Given the description of an element on the screen output the (x, y) to click on. 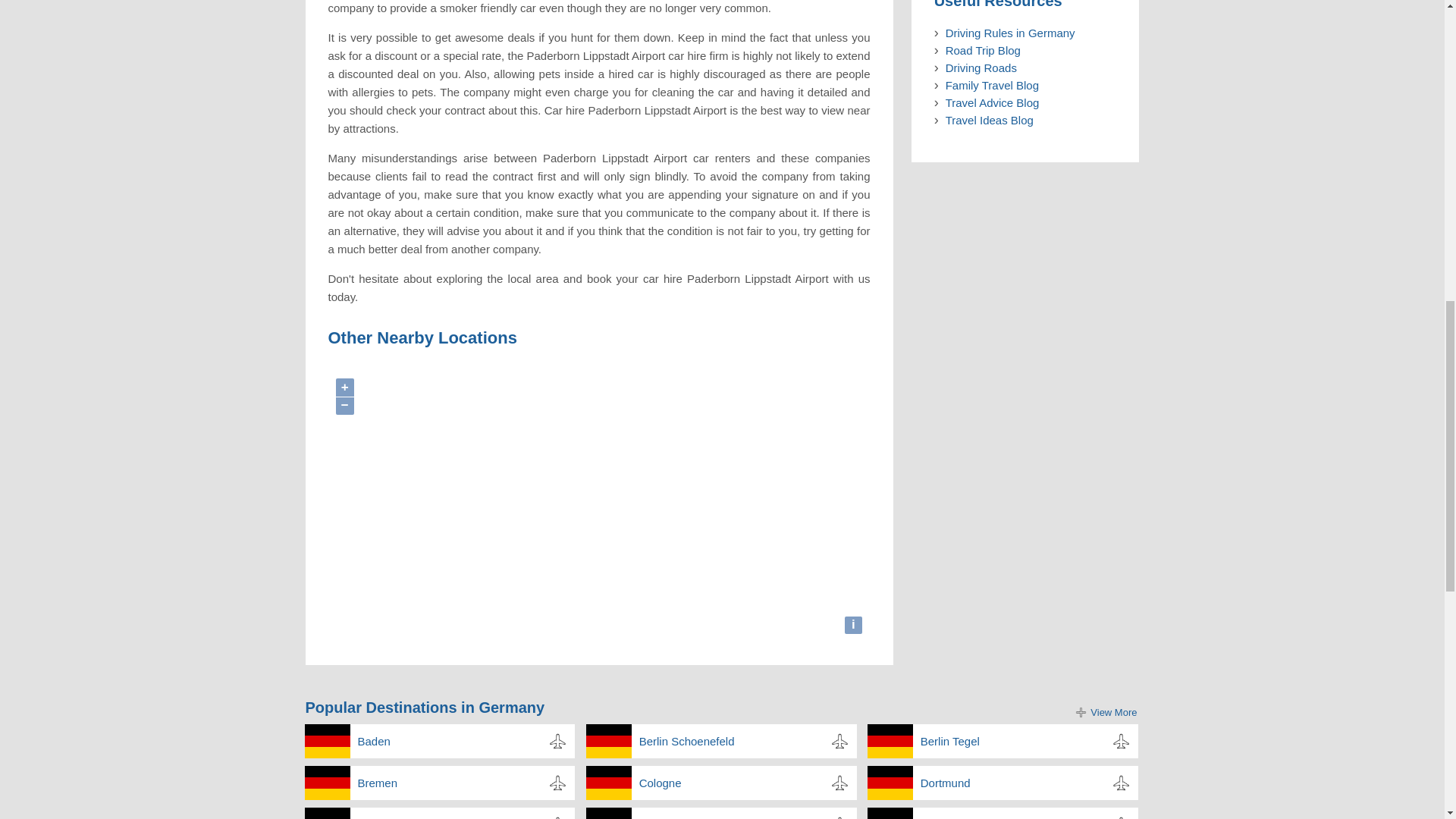
i (853, 625)
Attributions (853, 625)
Zoom out (344, 406)
Zoom in (344, 387)
